Given the description of an element on the screen output the (x, y) to click on. 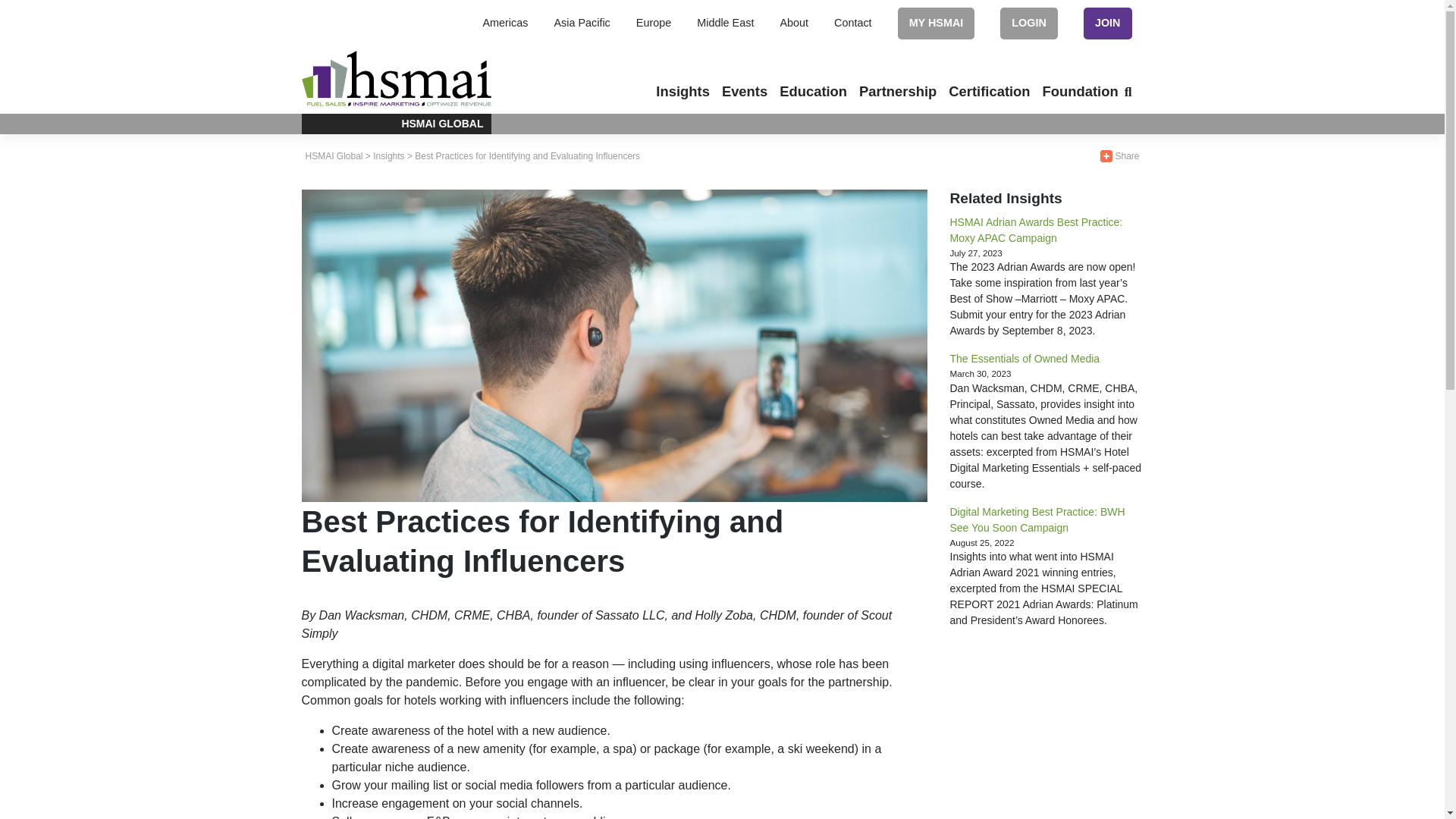
LOGIN (1028, 22)
Events (744, 90)
Foundation (1080, 90)
Certification (988, 90)
Partnership (897, 90)
Insights (682, 90)
JOIN (1107, 22)
Events (744, 90)
Americas (504, 22)
About (793, 22)
Go to Insights. (388, 155)
Go to HSMAI Global. (333, 155)
Asia Pacific (581, 22)
Education (813, 90)
Education (813, 90)
